Given the description of an element on the screen output the (x, y) to click on. 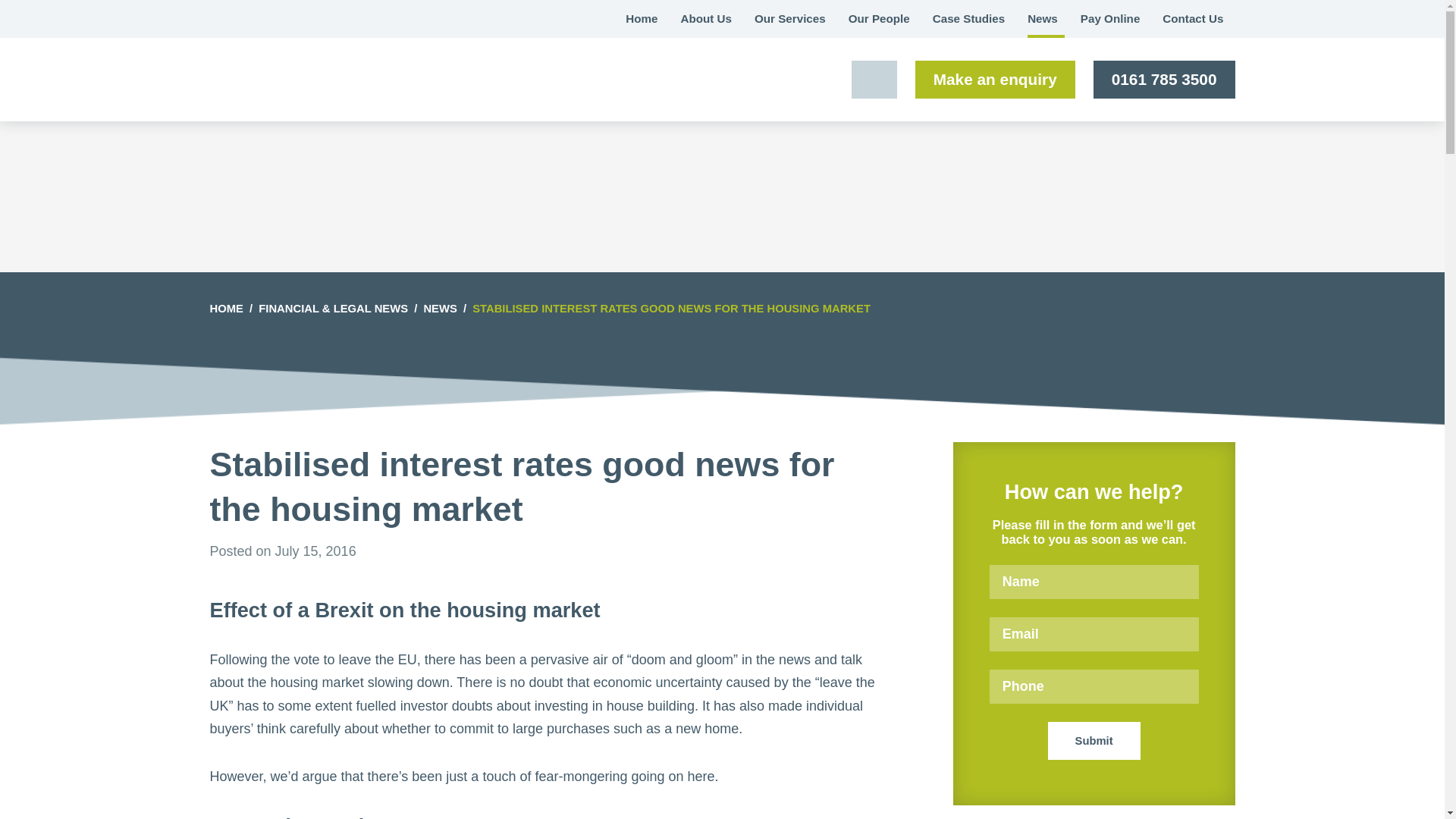
About Us (705, 18)
Home (641, 18)
Our People (879, 18)
Submit (1094, 740)
Our Services (789, 18)
Case Studies (968, 18)
